Given the description of an element on the screen output the (x, y) to click on. 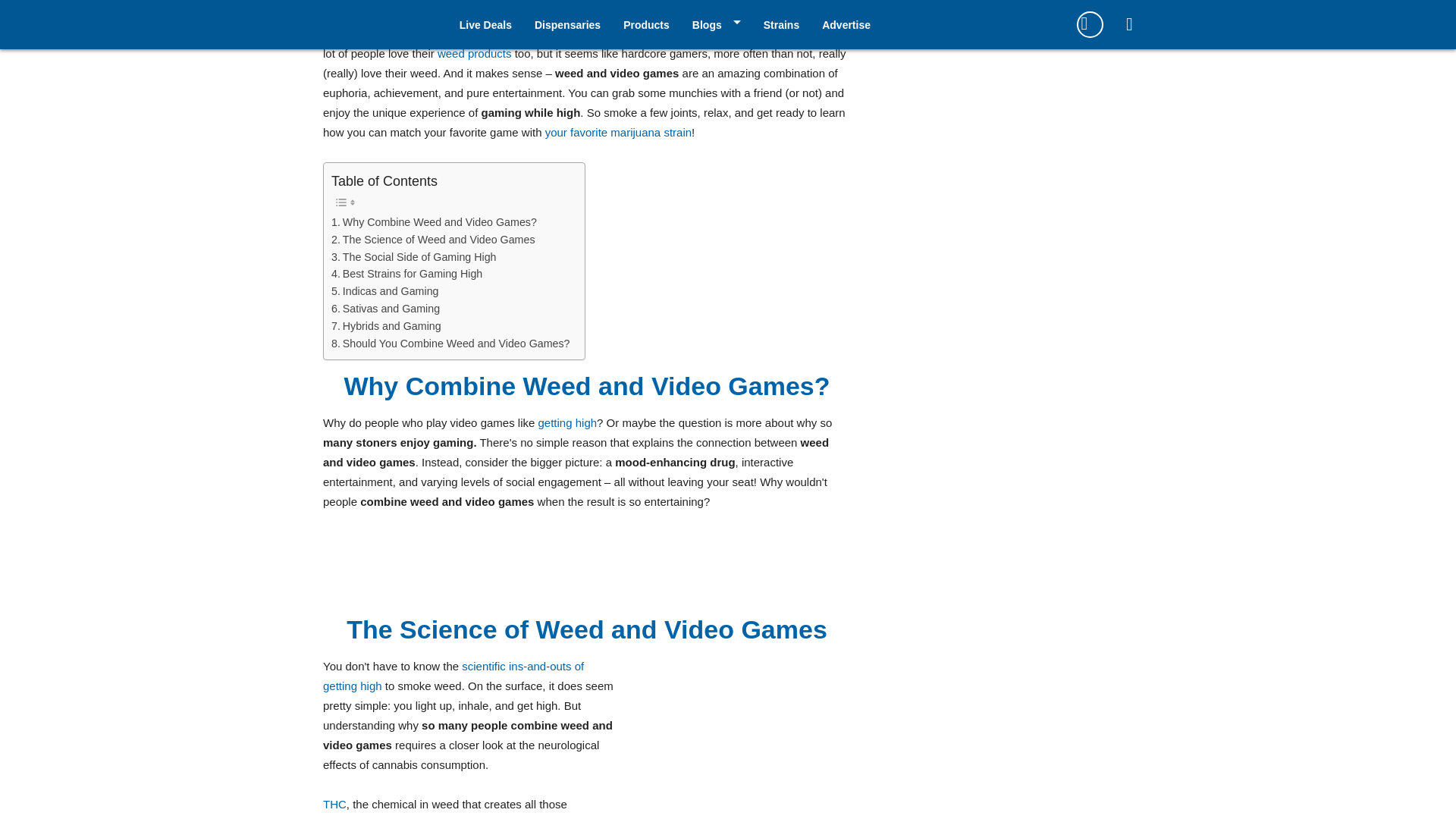
Should You Combine Weed and Video Games? (450, 343)
Best Strains for Gaming High (406, 273)
Should You Combine Weed and Video Games? (450, 343)
your favorite marijuana strain (617, 132)
Best Strains for Gaming High (406, 273)
The Science of Weed and Video Games (433, 239)
Why Combine Weed and Video Games? (434, 221)
The Social Side of Gaming High (413, 257)
Hybrids and Gaming  (387, 325)
